Given the description of an element on the screen output the (x, y) to click on. 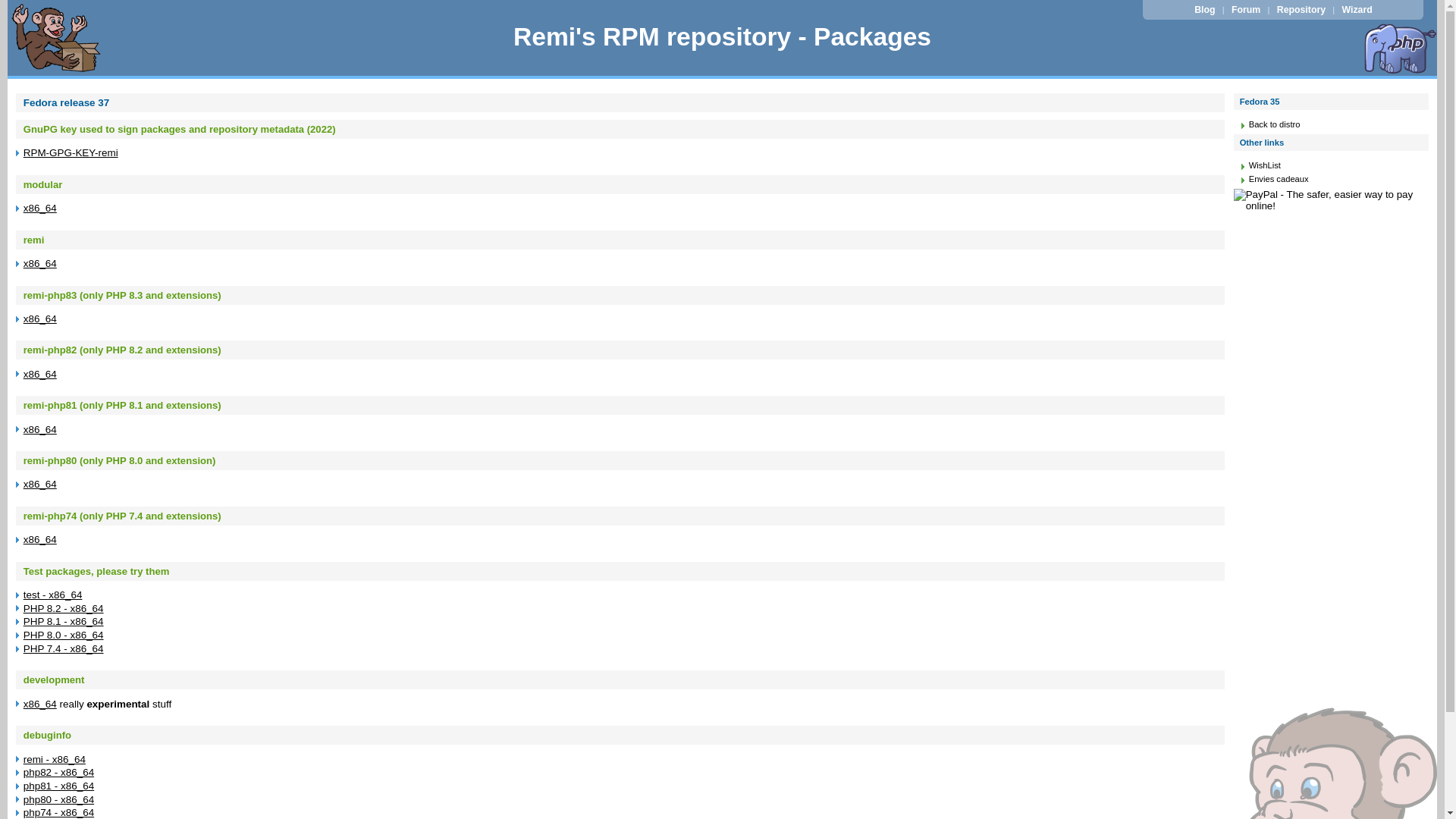
x86_64 Element type: text (39, 263)
Blog Element type: text (1204, 9)
PHP 8.0 - x86_64 Element type: text (63, 634)
PHP 8.2 - x86_64 Element type: text (63, 608)
x86_64 Element type: text (39, 703)
PHP 8.1 - x86_64 Element type: text (63, 621)
x86_64 Element type: text (39, 207)
Wizard Element type: text (1356, 9)
remi - x86_64 Element type: text (54, 759)
Remi's RPM repository - Packages Element type: text (722, 36)
x86_64 Element type: text (39, 318)
test - x86_64 Element type: text (52, 594)
php82 - x86_64 Element type: text (58, 772)
PHP 7.4 - x86_64 Element type: text (63, 648)
x86_64 Element type: text (39, 483)
Back to distro Element type: text (1274, 123)
x86_64 Element type: text (39, 539)
WishList Element type: text (1264, 164)
Envies cadeaux Element type: text (1278, 178)
x86_64 Element type: text (39, 373)
Forum Element type: text (1245, 9)
php80 - x86_64 Element type: text (58, 799)
Repository Element type: text (1301, 9)
php74 - x86_64 Element type: text (58, 812)
x86_64 Element type: text (39, 429)
RPM-GPG-KEY-remi Element type: text (70, 152)
php81 - x86_64 Element type: text (58, 785)
